Given the description of an element on the screen output the (x, y) to click on. 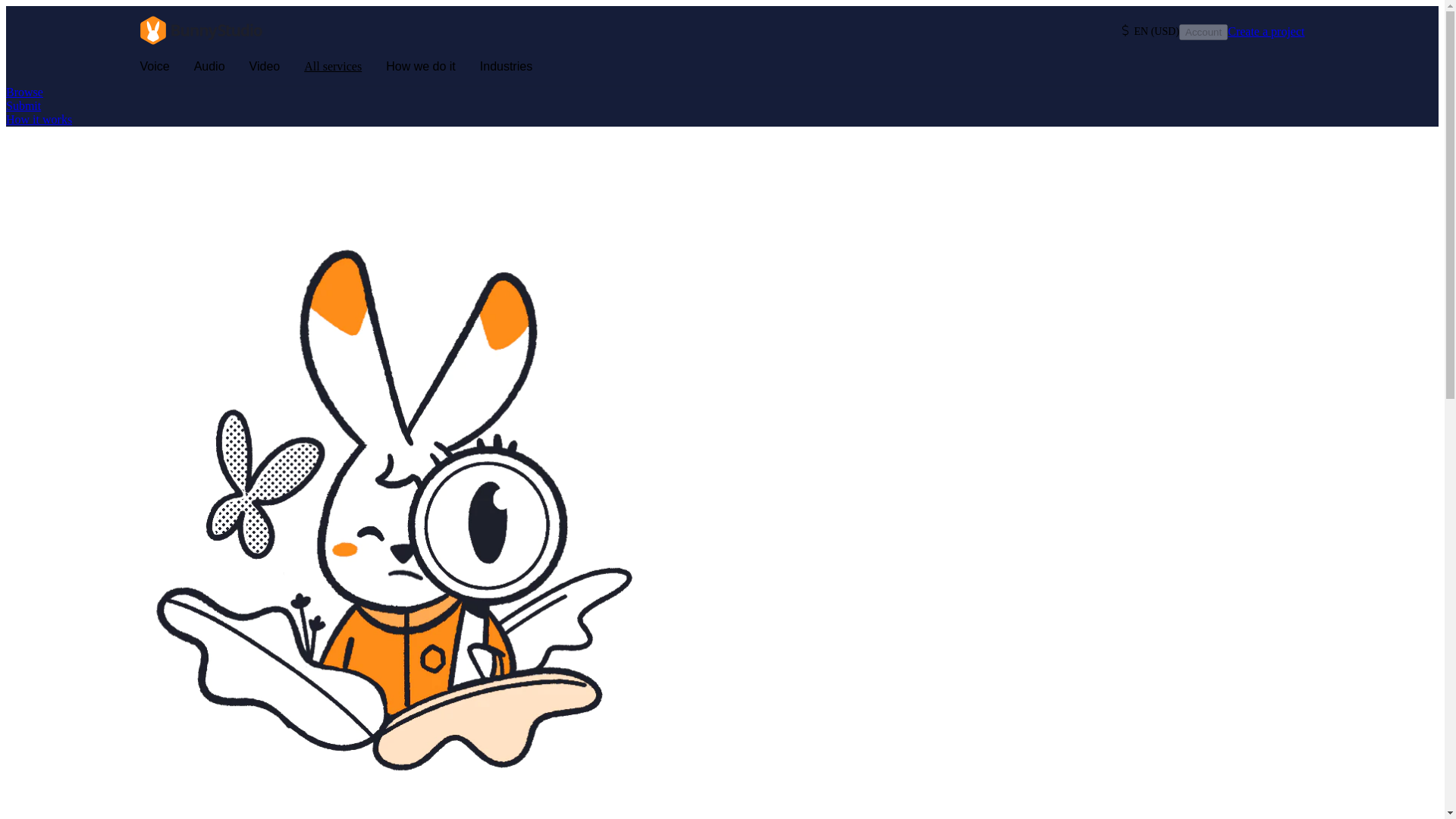
Create a project (1265, 31)
Voice (153, 66)
Audio (209, 66)
Video (264, 66)
Account (1203, 32)
All services (332, 66)
